Given the description of an element on the screen output the (x, y) to click on. 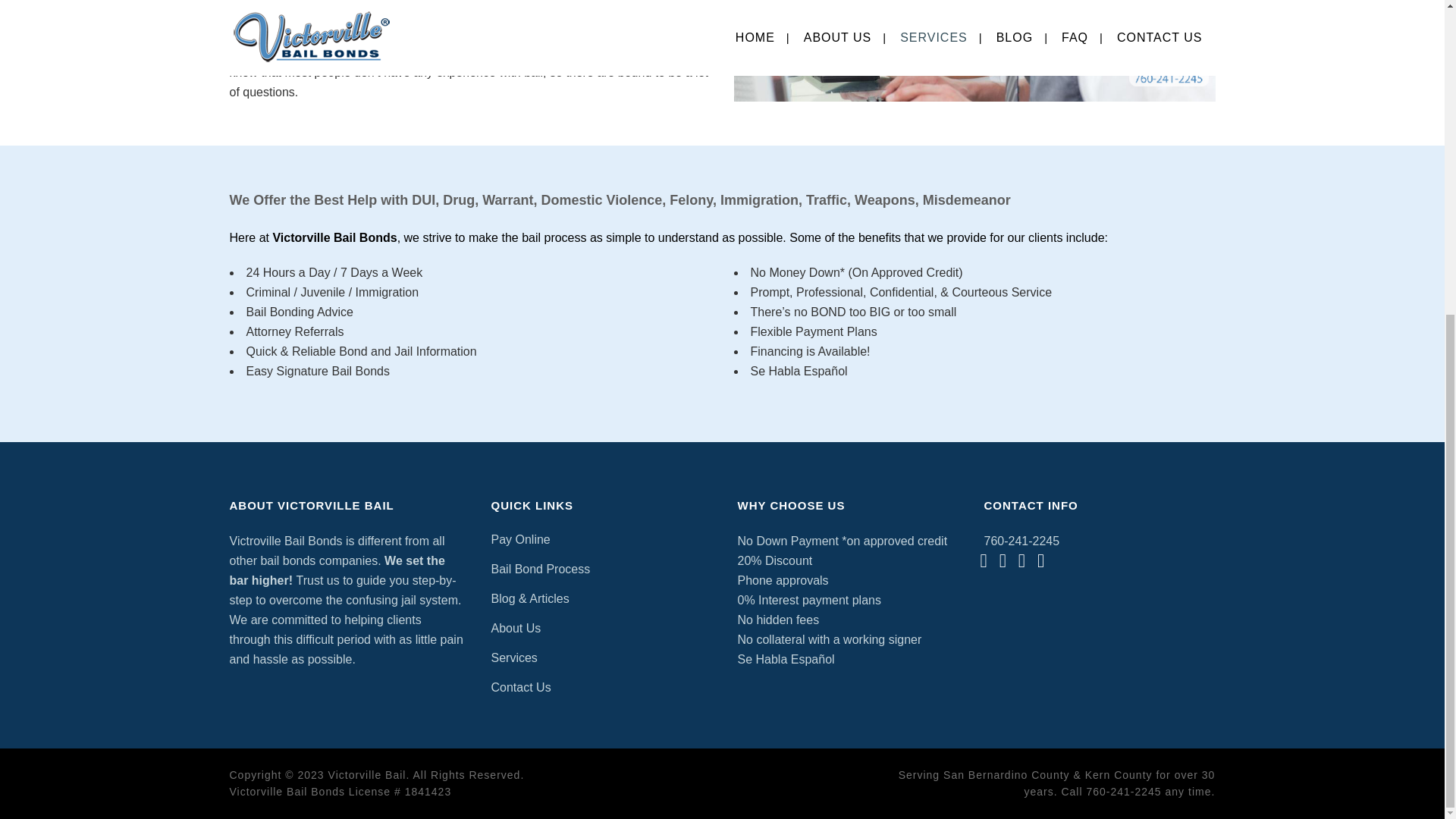
Bail Bond Process (603, 569)
760-241-2245 (1123, 791)
Pay Online (603, 539)
Services (603, 658)
Contact Us (603, 687)
About Us (603, 628)
760-241-2245 (1021, 540)
